Given the description of an element on the screen output the (x, y) to click on. 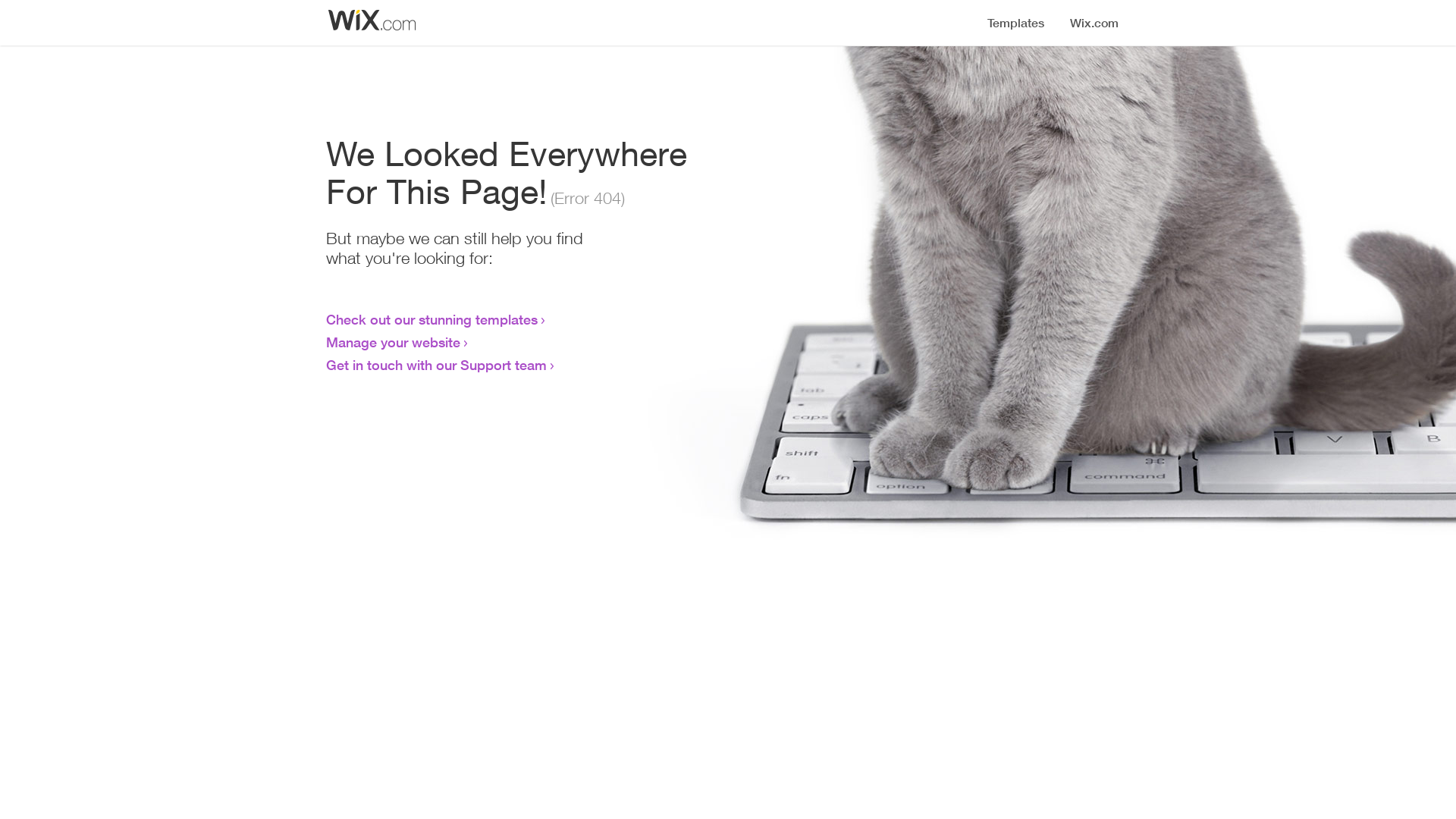
Check out our stunning templates Element type: text (431, 318)
Manage your website Element type: text (393, 341)
Get in touch with our Support team Element type: text (436, 364)
